Given the description of an element on the screen output the (x, y) to click on. 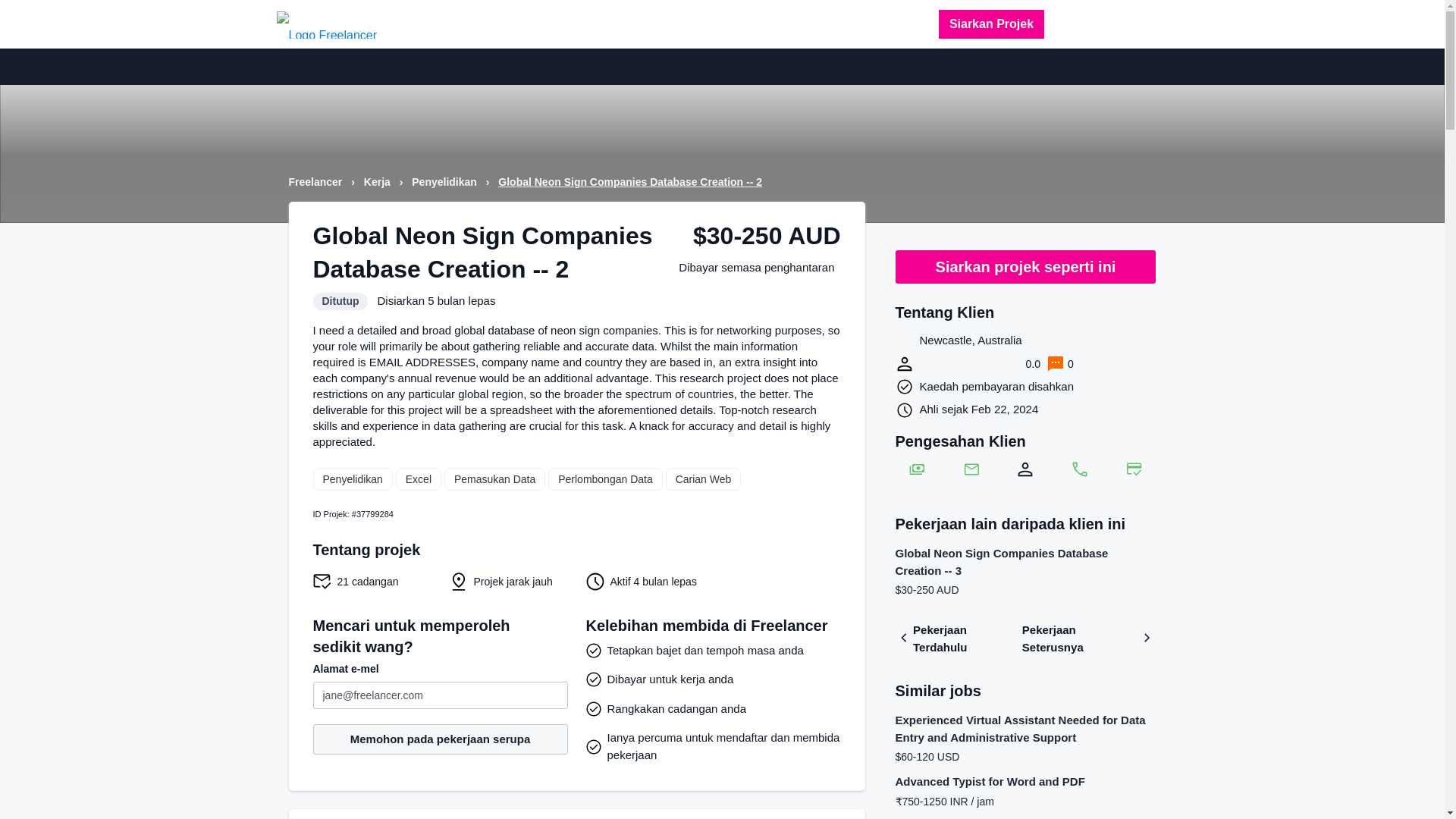
Excel (418, 478)
Pemasukan Data (494, 478)
Siarkan Projek (991, 23)
Memohon pada pekerjaan serupa (440, 739)
Penyelidikan (352, 478)
Penyelidikan (445, 182)
Carian Web (703, 478)
Perlombongan Data (605, 478)
Freelancer (316, 182)
Kerja (378, 182)
